Given the description of an element on the screen output the (x, y) to click on. 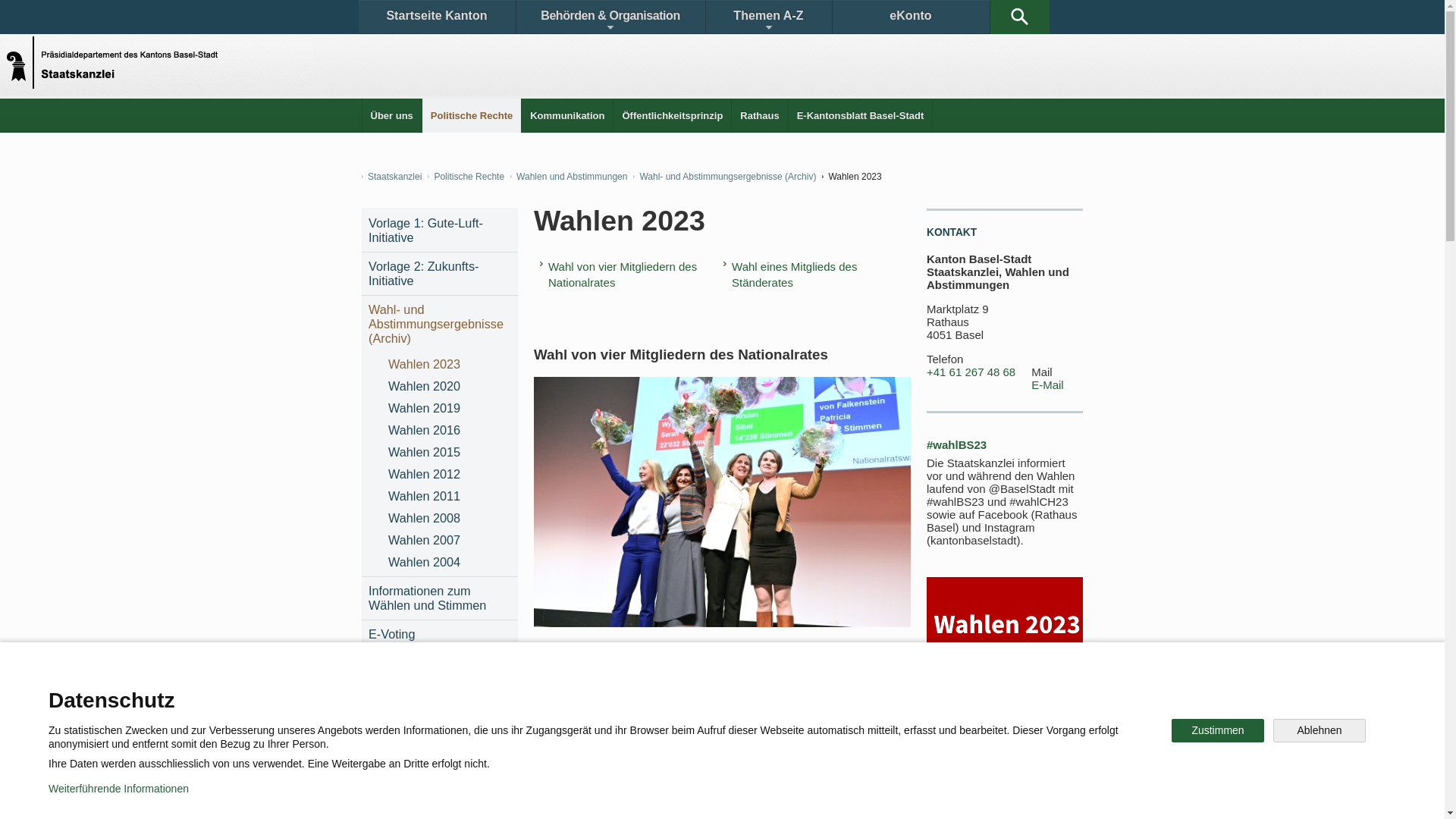
+41 61 267 48 68 Element type: text (970, 372)
ch.ch Element type: text (941, 698)
Wahl- und Abstimmungsergebnisse (Archiv) Element type: text (724, 176)
Wahlen und Abstimmungen Element type: text (568, 176)
Themen A-Z Element type: text (768, 17)
Wahlen 2008 Element type: text (449, 518)
Wahl- und Abstimmungsergebnisse (Archiv) Element type: text (439, 323)
Staatskanzlei Element type: text (391, 176)
E-Kantonsblatt Basel-Stadt Element type: text (860, 115)
Wahlen 2011 Element type: text (449, 496)
#wahlBS23 Element type: text (956, 444)
Politische Rechte Element type: text (471, 115)
Wahlen 2004 Element type: text (449, 562)
Wahlen und Abstimmungen Element type: text (432, 47)
eKonto Element type: text (910, 17)
Wahlen 2012 Element type: text (449, 474)
Wahlen 2015 Element type: text (449, 452)
Rathaus Element type: text (759, 115)
Wahlen 2019 Element type: text (449, 408)
Unterschriftenlisten von Initiativen und Referenden Element type: text (775, 47)
Wahlen 2020 Element type: text (449, 386)
Ablehnen Element type: text (1319, 730)
Initiativen Element type: text (540, 47)
Vorlage 2: Zukunfts-Initiative Element type: text (439, 273)
Politische Rechte Element type: text (465, 176)
Startseite Kanton Element type: text (435, 17)
Wahlen 2007 Element type: text (449, 540)
Wahlen 2016 Element type: text (449, 430)
Vorlage 1: Gute-Luft-Initiative Element type: text (439, 230)
Zustimmen Element type: text (1217, 730)
Petitionen Element type: text (934, 47)
Kommunikation Element type: text (566, 115)
E-Voting Element type: text (439, 634)
Referenden Element type: text (613, 47)
E-Mail Element type: text (1047, 385)
Wahl von vier Mitgliedern des Nationalrates Element type: text (631, 274)
